Given the description of an element on the screen output the (x, y) to click on. 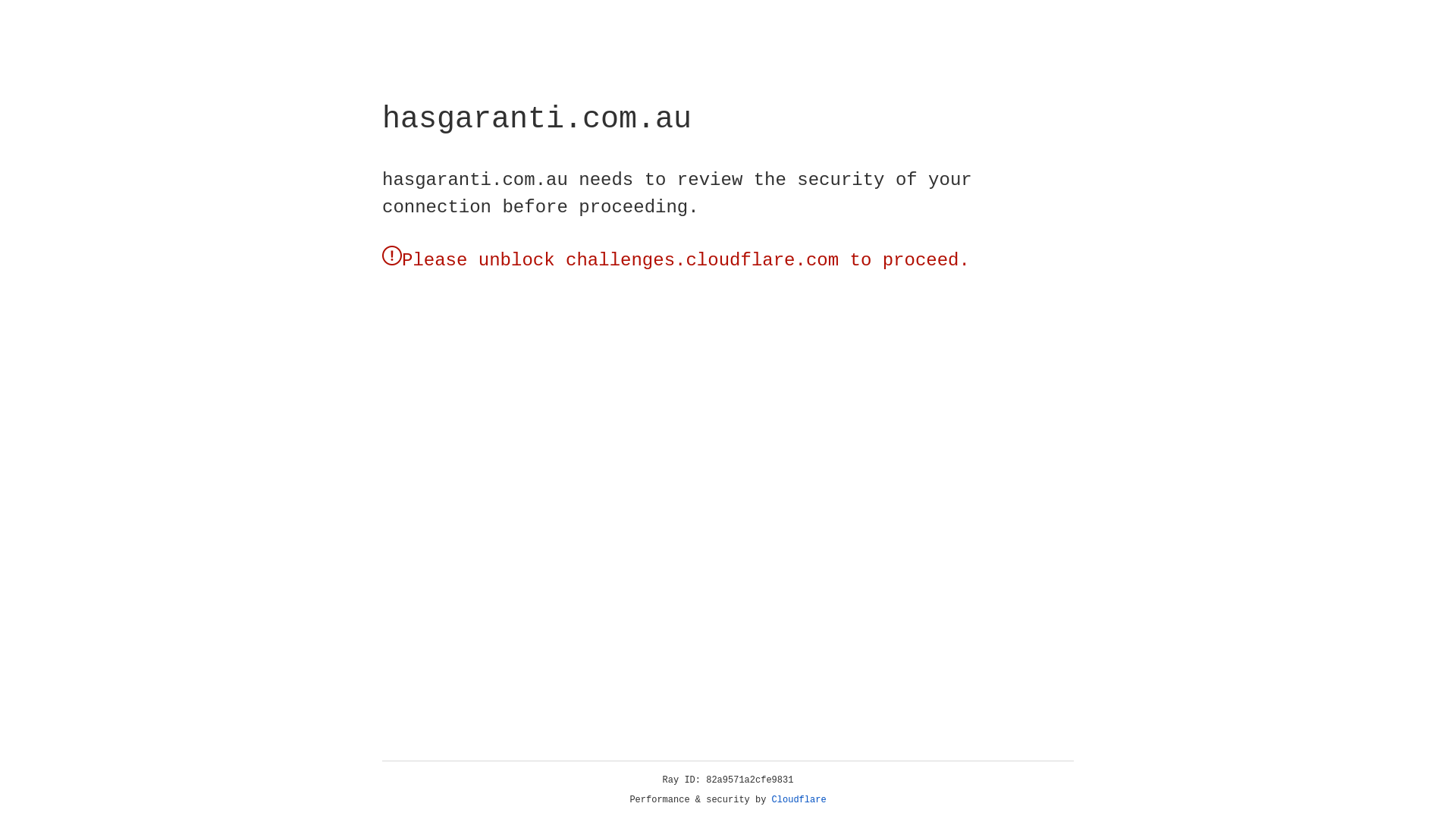
Cloudflare Element type: text (798, 799)
